Given the description of an element on the screen output the (x, y) to click on. 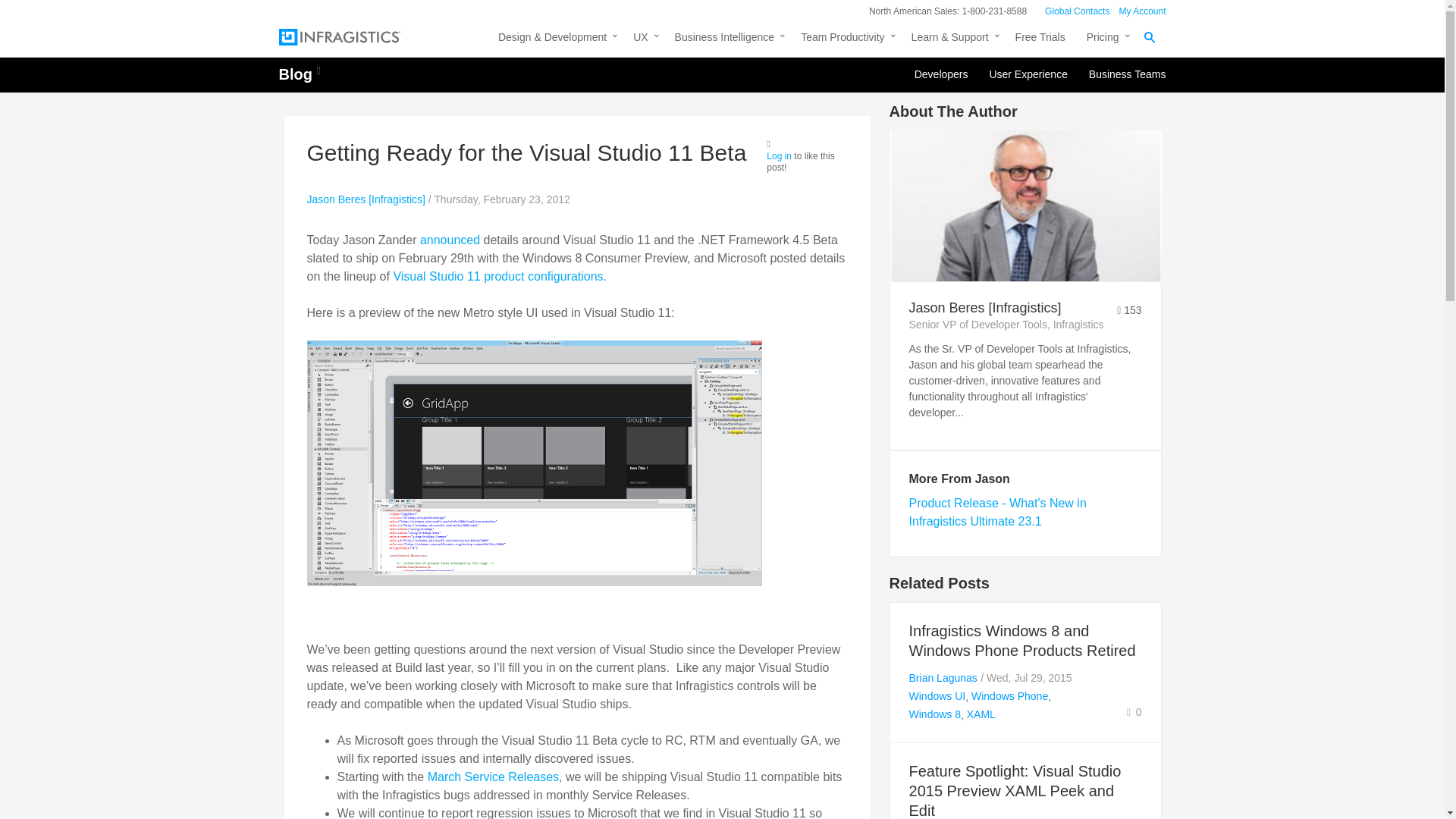
Contact Us (1076, 11)
Global Contacts (1076, 11)
Team Productivity (844, 39)
My Account (1142, 11)
search (1137, 20)
UX (643, 39)
Design and Development (555, 39)
Business Intelligence (726, 39)
Team Productivity (844, 39)
Learn and Support (952, 39)
